Given the description of an element on the screen output the (x, y) to click on. 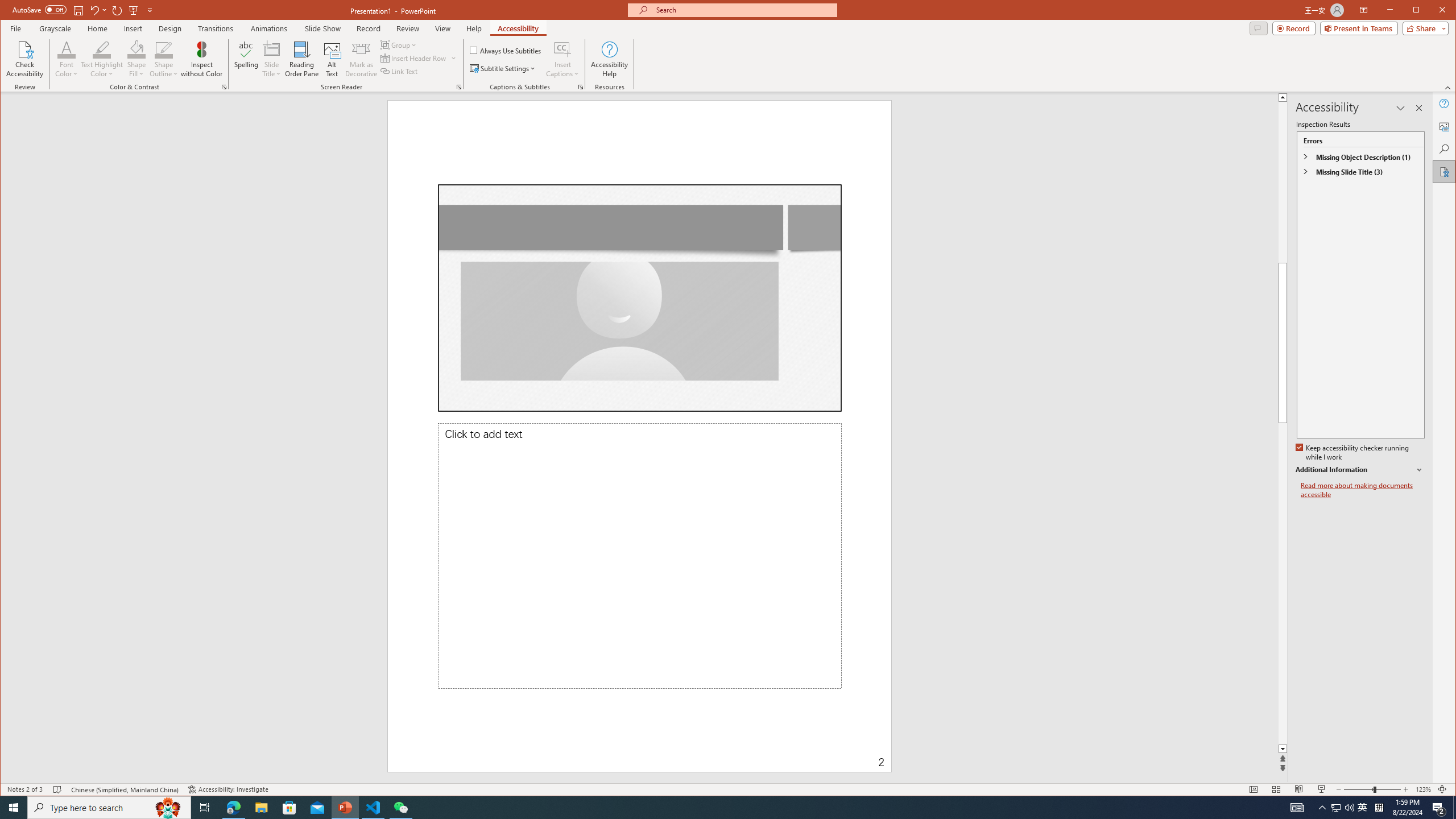
Subtitle Settings (502, 68)
Page Number (781, 754)
